Given the description of an element on the screen output the (x, y) to click on. 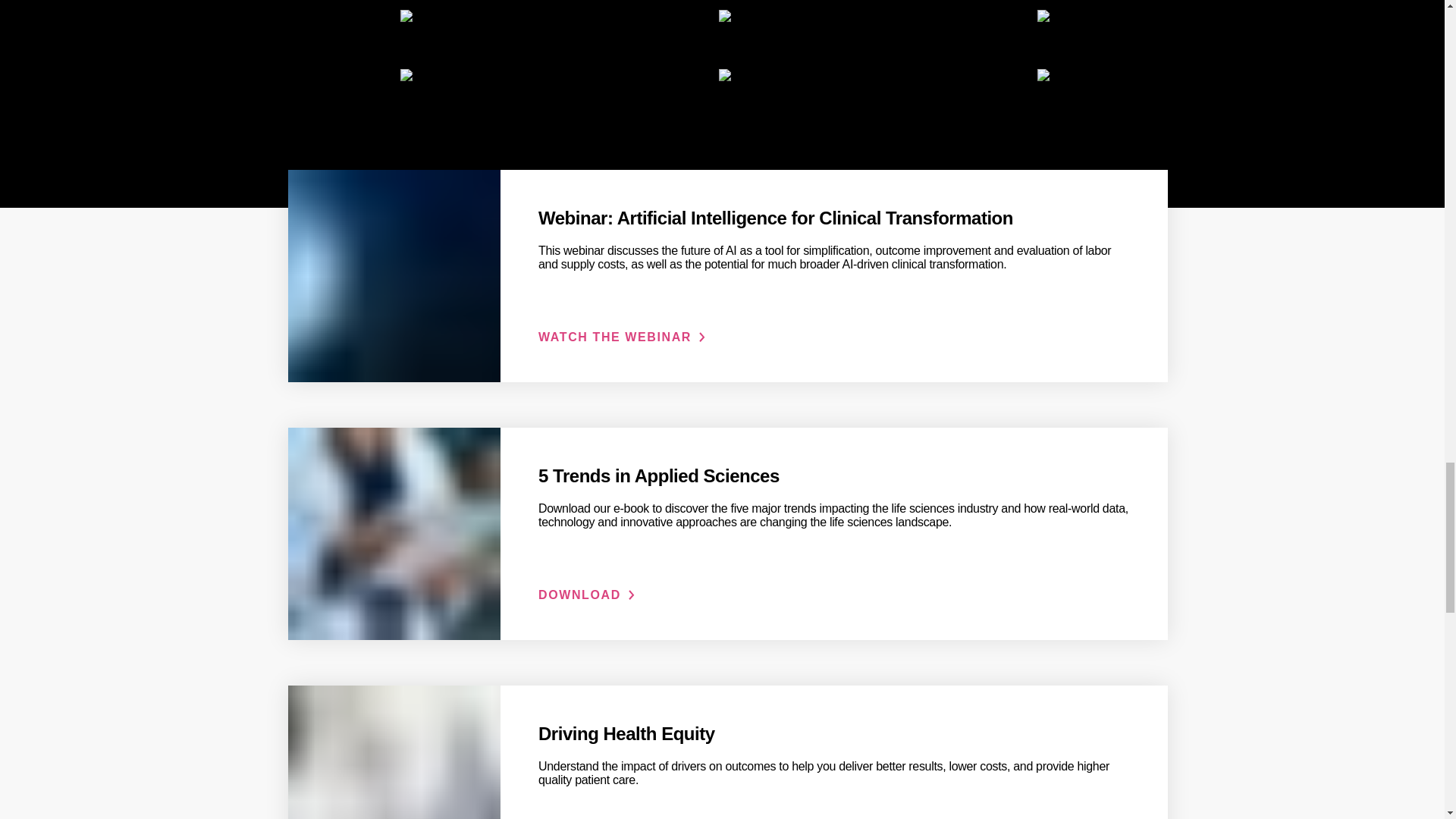
DOWNLOAD (586, 594)
WATCH THE WEBINAR (621, 336)
